Given the description of an element on the screen output the (x, y) to click on. 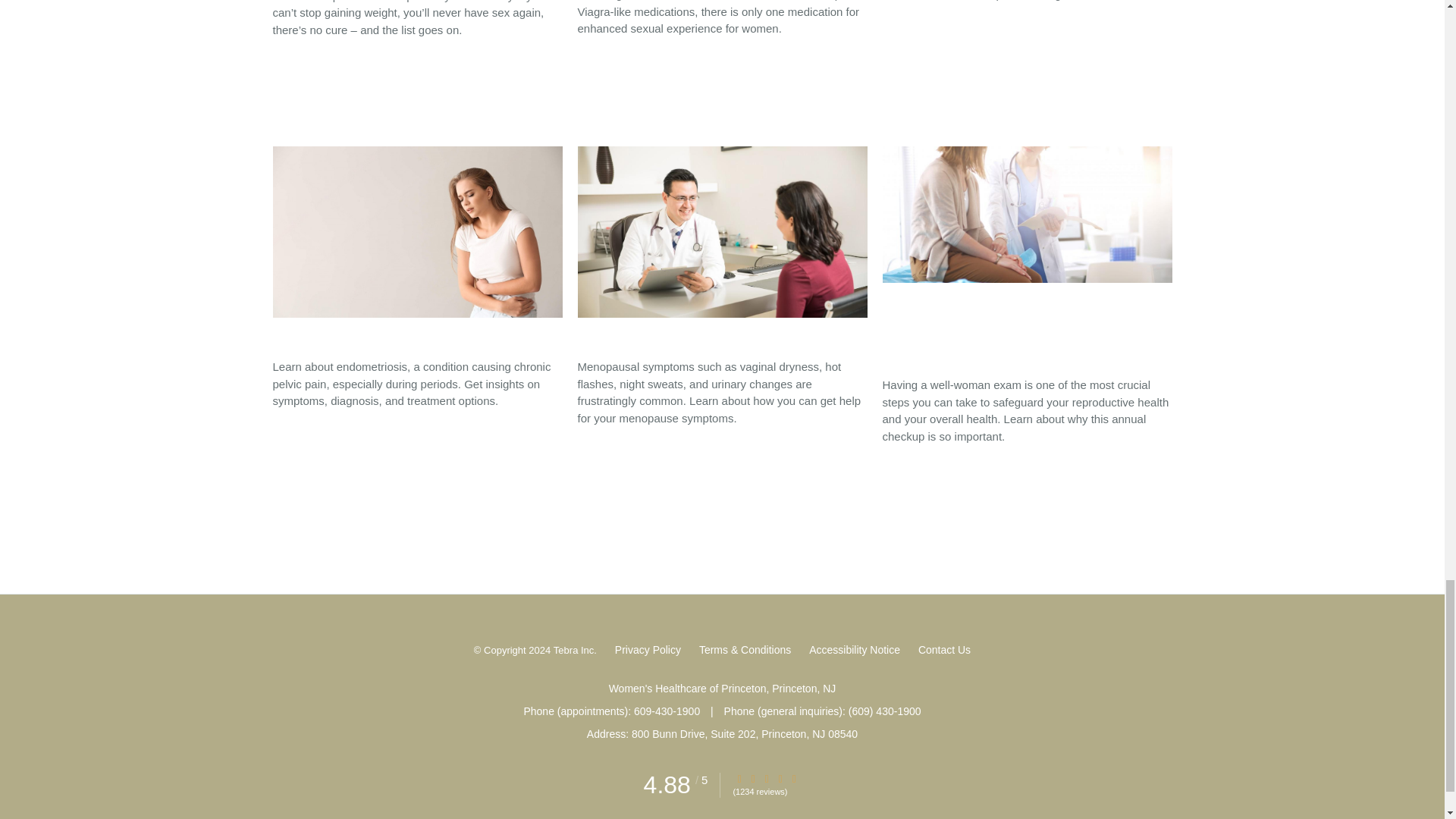
Star Rating (766, 778)
Star Rating (780, 778)
Star Rating (753, 778)
Star Rating (794, 778)
Star Rating (738, 778)
